Given the description of an element on the screen output the (x, y) to click on. 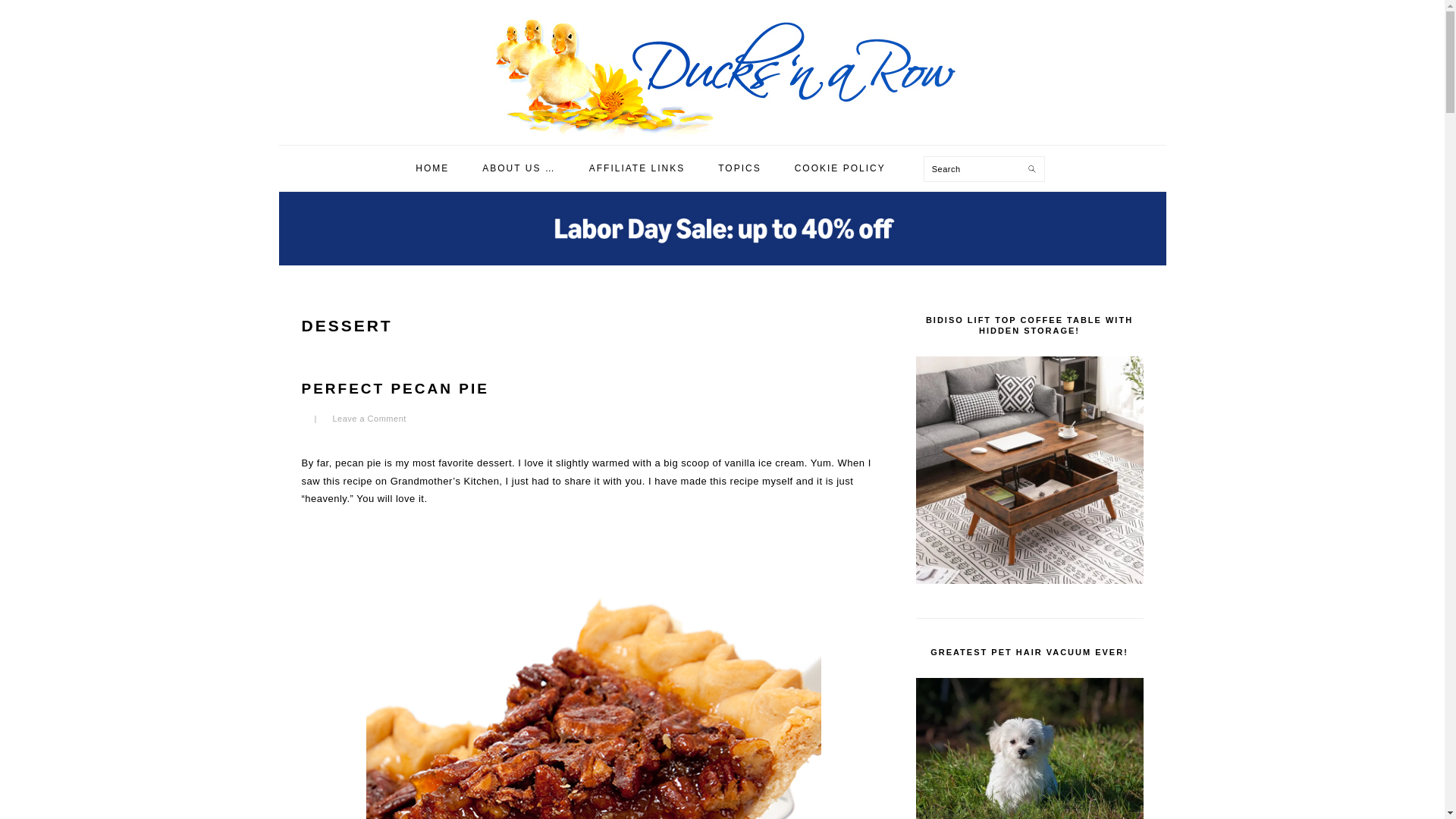
AFFILIATE LINKS (636, 167)
Leave a Comment (368, 418)
TOPICS (738, 167)
HOME (431, 167)
COOKIE POLICY (839, 167)
PERFECT PECAN PIE (395, 388)
